Given the description of an element on the screen output the (x, y) to click on. 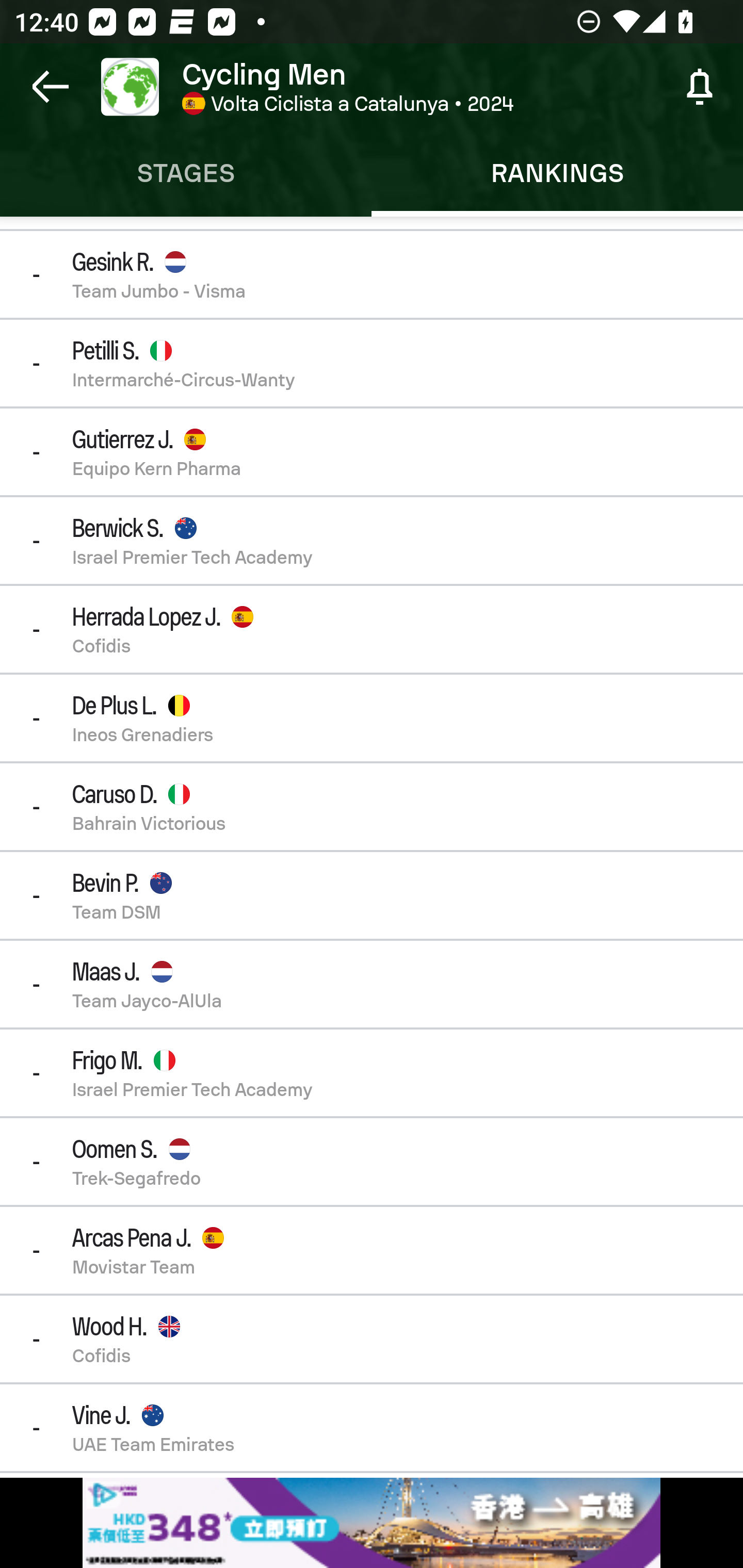
Navigate up (50, 86)
Stages STAGES (185, 173)
- Gesink R. Team Jumbo - Visma (371, 274)
- Petilli S. Intermarché-Circus-Wanty (371, 362)
- Gutierrez J. Equipo Kern Pharma (371, 452)
- Berwick S. Israel Premier Tech Academy (371, 540)
- Herrada Lopez J. Cofidis (371, 629)
- De Plus L. Ineos Grenadiers (371, 718)
- Caruso D. Bahrain Victorious (371, 806)
- Bevin P. Team DSM (371, 895)
- Maas J. Team Jayco-AlUla (371, 983)
- Frigo M. Israel Premier Tech Academy (371, 1073)
- Oomen S. Trek-Segafredo (371, 1160)
- Arcas Pena J. Movistar Team (371, 1250)
- Wood H. Cofidis (371, 1338)
- Vine J. UAE Team Emirates (371, 1427)
2ph9hx2a_320x50 (371, 1522)
